Given the description of an element on the screen output the (x, y) to click on. 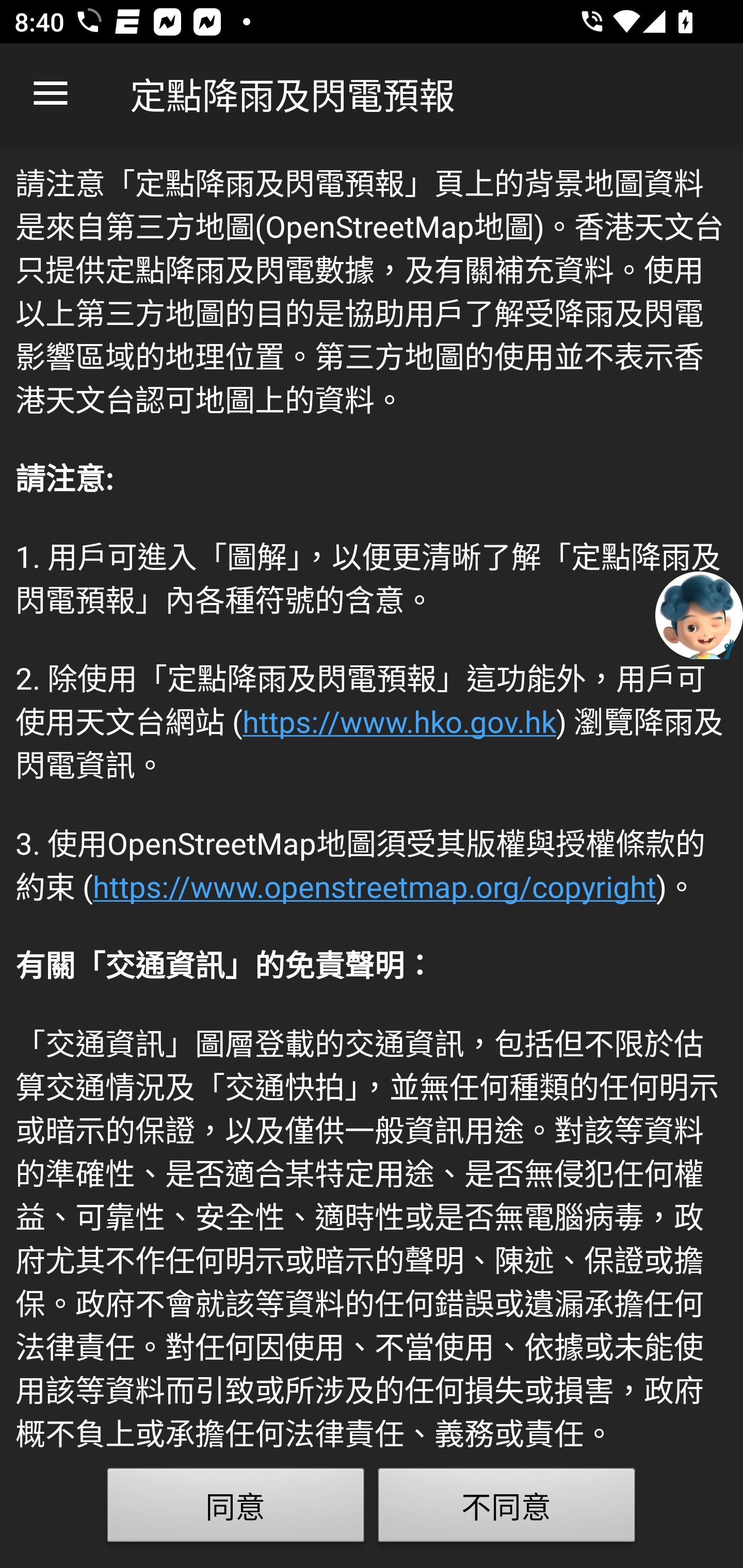
向上瀏覽 (50, 93)
聊天機械人 (699, 614)
同意 (235, 1509)
不同意 (506, 1509)
